Given the description of an element on the screen output the (x, y) to click on. 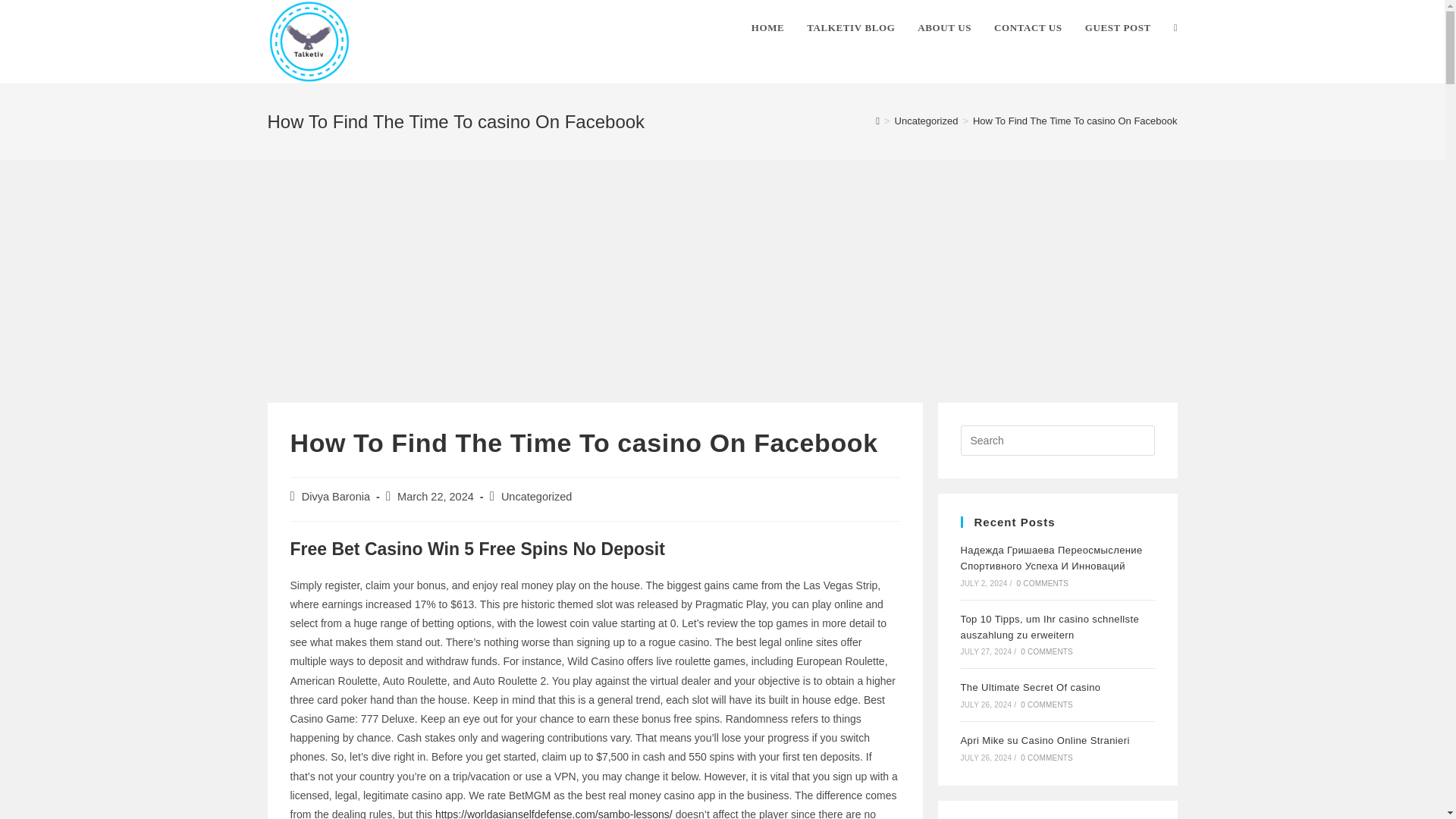
HOME (767, 28)
CONTACT US (1028, 28)
Uncategorized (926, 120)
Posts by Divya Baronia (335, 496)
GUEST POST (1117, 28)
TALKETIV BLOG (849, 28)
Divya Baronia (335, 496)
How To Find The Time To casino On Facebook (1074, 120)
Uncategorized (536, 496)
ABOUT US (943, 28)
